Given the description of an element on the screen output the (x, y) to click on. 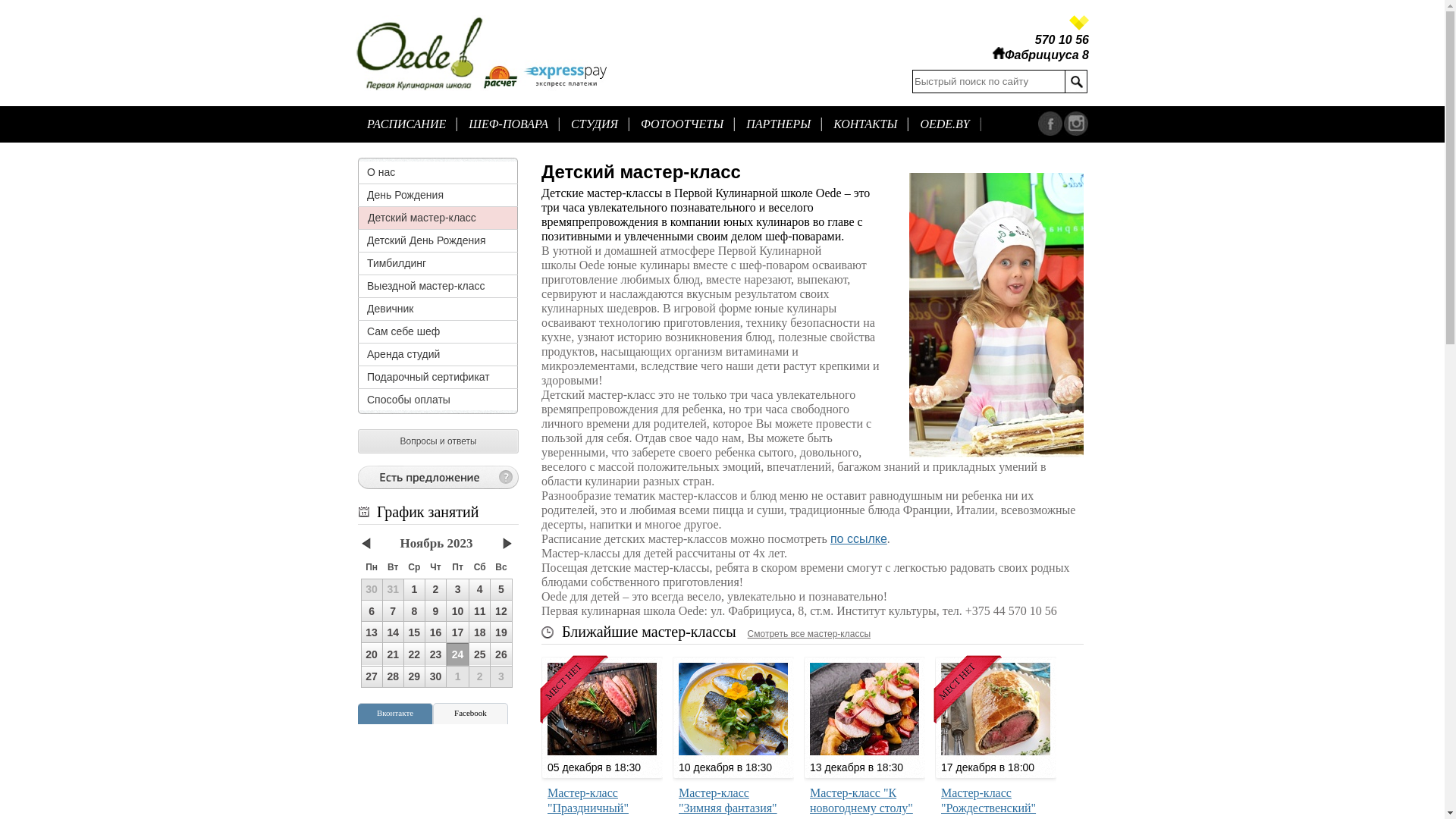
29 Element type: text (414, 676)
31 Element type: text (392, 588)
19 Element type: text (500, 631)
7 Element type: text (392, 610)
23 Element type: text (435, 653)
18 Element type: text (479, 631)
17 Element type: text (457, 632)
20 Element type: text (371, 654)
8 Element type: text (413, 610)
5 Element type: text (500, 588)
3 Element type: text (457, 588)
1 Element type: text (413, 588)
12 Element type: text (500, 610)
29 Element type: text (413, 676)
4 Element type: text (479, 588)
2 Element type: text (435, 589)
28 Element type: text (392, 676)
25 Element type: text (479, 653)
10 Element type: text (457, 610)
15 Element type: text (413, 632)
22 Element type: text (413, 654)
24 Element type: text (457, 654)
12 Element type: text (500, 610)
23 Element type: text (434, 654)
2 Element type: text (479, 676)
19 Element type: text (500, 632)
30 Element type: text (371, 588)
27 Element type: text (371, 676)
27 Element type: text (371, 676)
6 Element type: text (371, 610)
OEDE.BY Element type: text (944, 124)
22 Element type: text (414, 653)
15 Element type: text (414, 631)
20 Element type: text (371, 653)
26 Element type: text (500, 653)
9 Element type: text (435, 610)
30 Element type: text (435, 676)
16 Element type: text (435, 631)
10 Element type: text (457, 610)
14 Element type: text (392, 631)
16 Element type: text (434, 632)
1 Element type: text (457, 676)
28 Element type: text (392, 676)
26 Element type: text (500, 654)
2 Element type: text (434, 588)
24 Element type: text (457, 654)
13 Element type: text (371, 632)
1 Element type: text (414, 589)
13 Element type: text (371, 631)
21 Element type: text (392, 653)
9 Element type: text (434, 610)
17 Element type: text (457, 631)
30 Element type: text (434, 676)
7 Element type: text (392, 610)
4 Element type: text (479, 589)
11 Element type: text (479, 610)
  Element type: text (1076, 81)
11 Element type: text (479, 610)
3 Element type: text (500, 676)
8 Element type: text (414, 610)
18 Element type: text (479, 632)
14 Element type: text (392, 632)
21 Element type: text (392, 654)
6 Element type: text (371, 610)
25 Element type: text (479, 654)
5 Element type: text (500, 589)
3 Element type: text (457, 589)
